Given the description of an element on the screen output the (x, y) to click on. 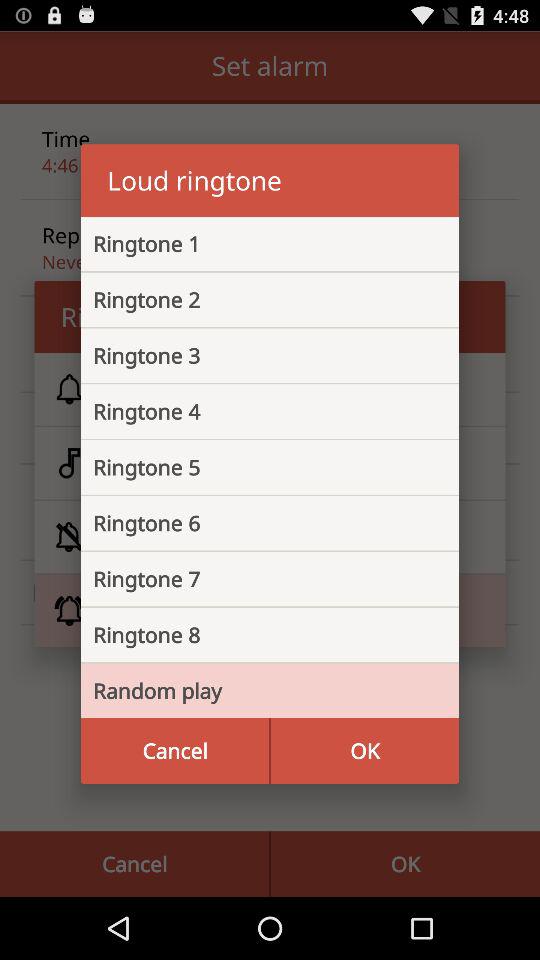
open ok item (364, 750)
